Given the description of an element on the screen output the (x, y) to click on. 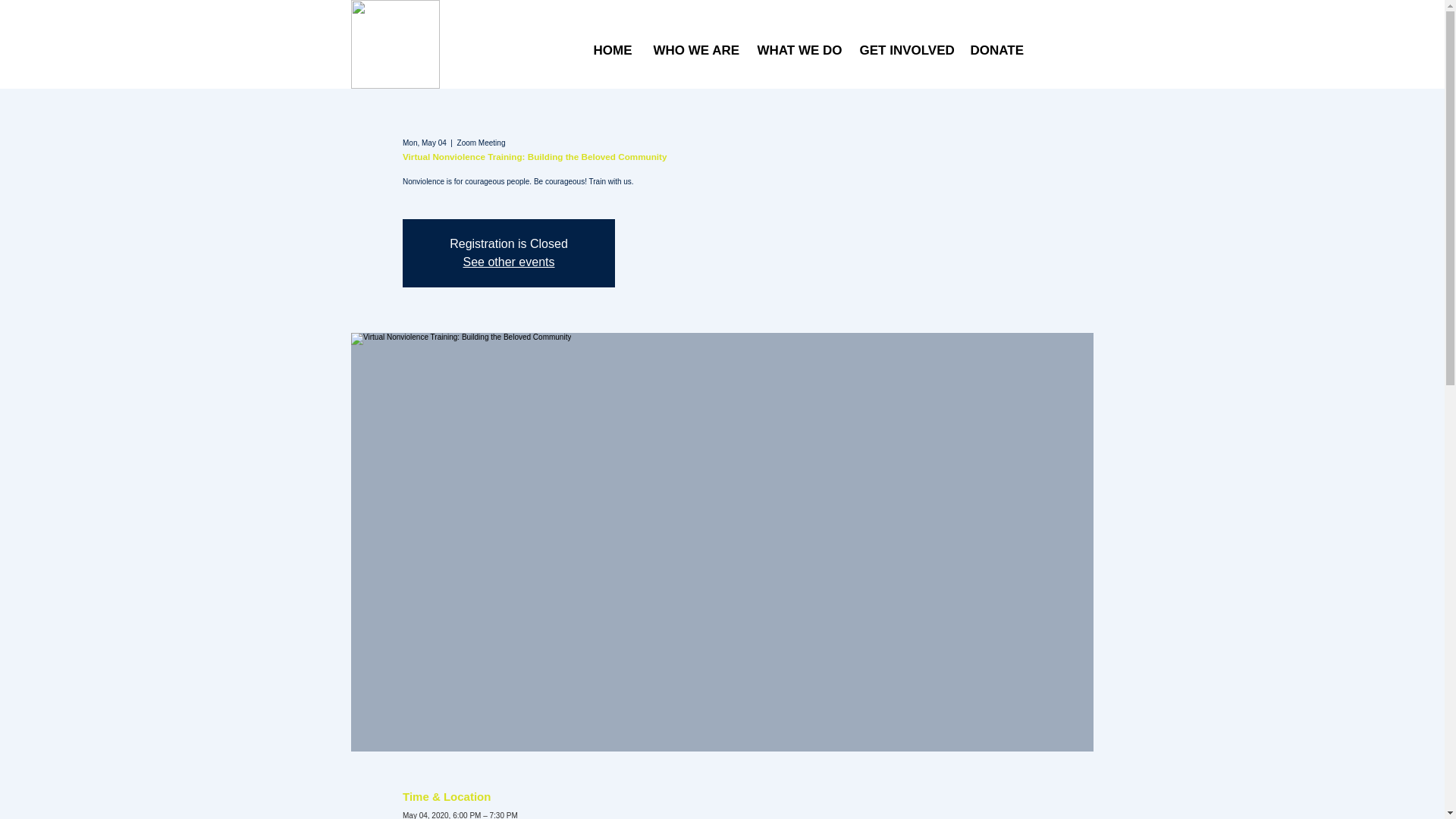
GET INVOLVED (902, 50)
DONATE (994, 50)
WHO WE ARE (693, 50)
See other events (508, 261)
HOME (612, 50)
WHAT WE DO (796, 50)
